Given the description of an element on the screen output the (x, y) to click on. 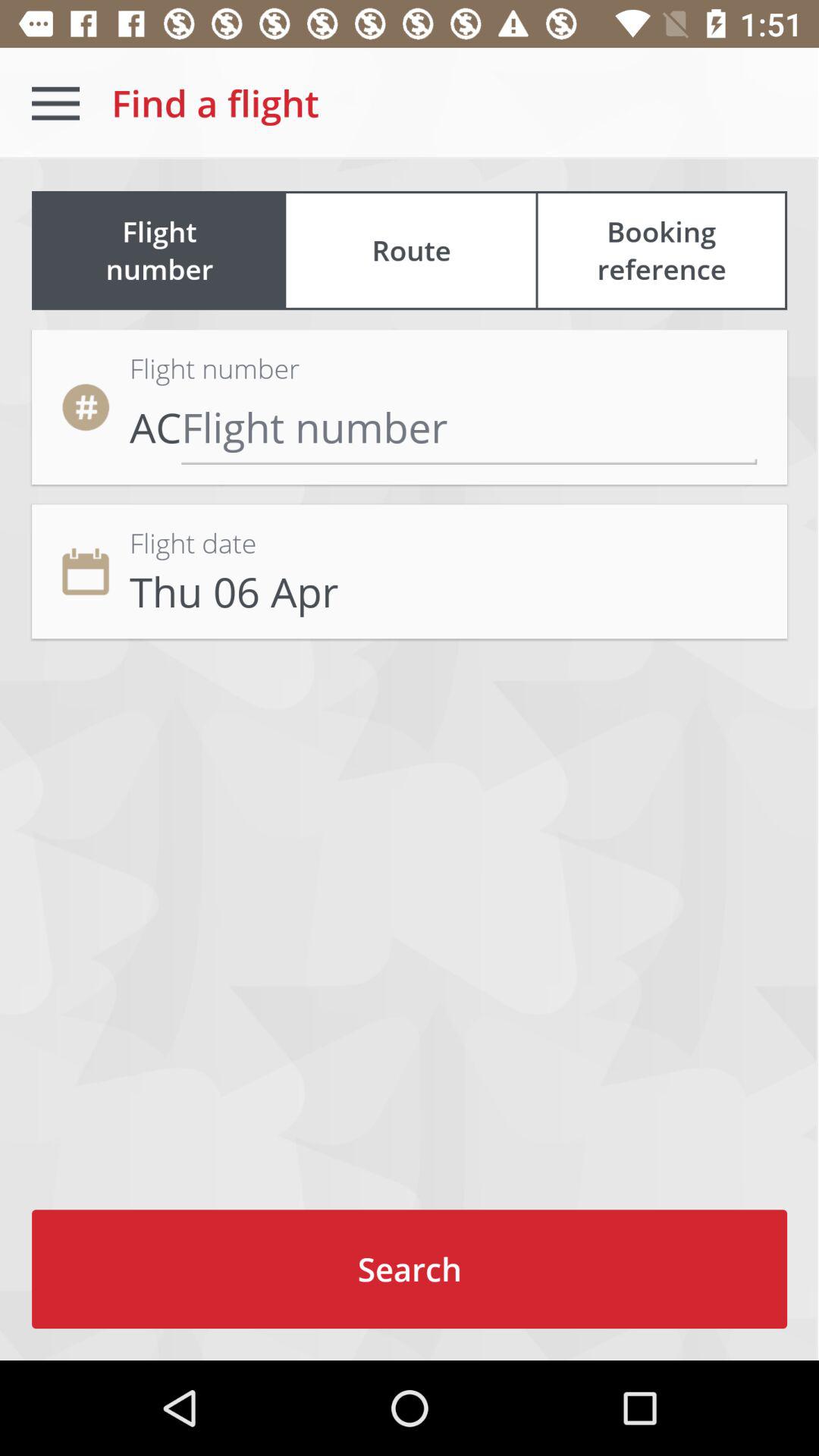
choose icon next to the flight
number (661, 250)
